Given the description of an element on the screen output the (x, y) to click on. 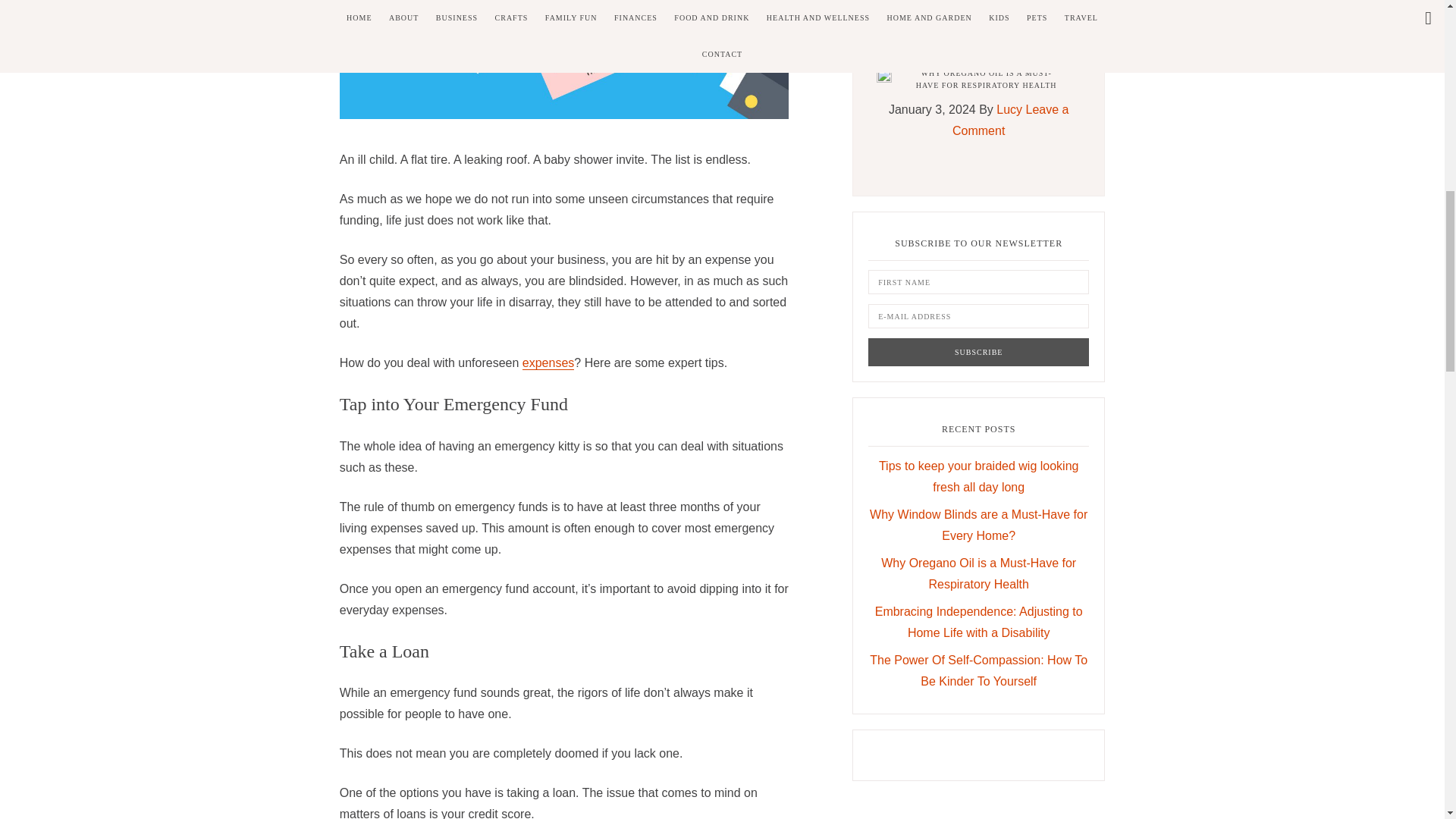
Leave a Comment (1010, 120)
Leave a Comment (1010, 10)
expenses (548, 363)
Lucy (1008, 109)
WHY OREGANO OIL IS A MUST-HAVE FOR RESPIRATORY HEALTH (986, 78)
Subscribe (978, 352)
